Given the description of an element on the screen output the (x, y) to click on. 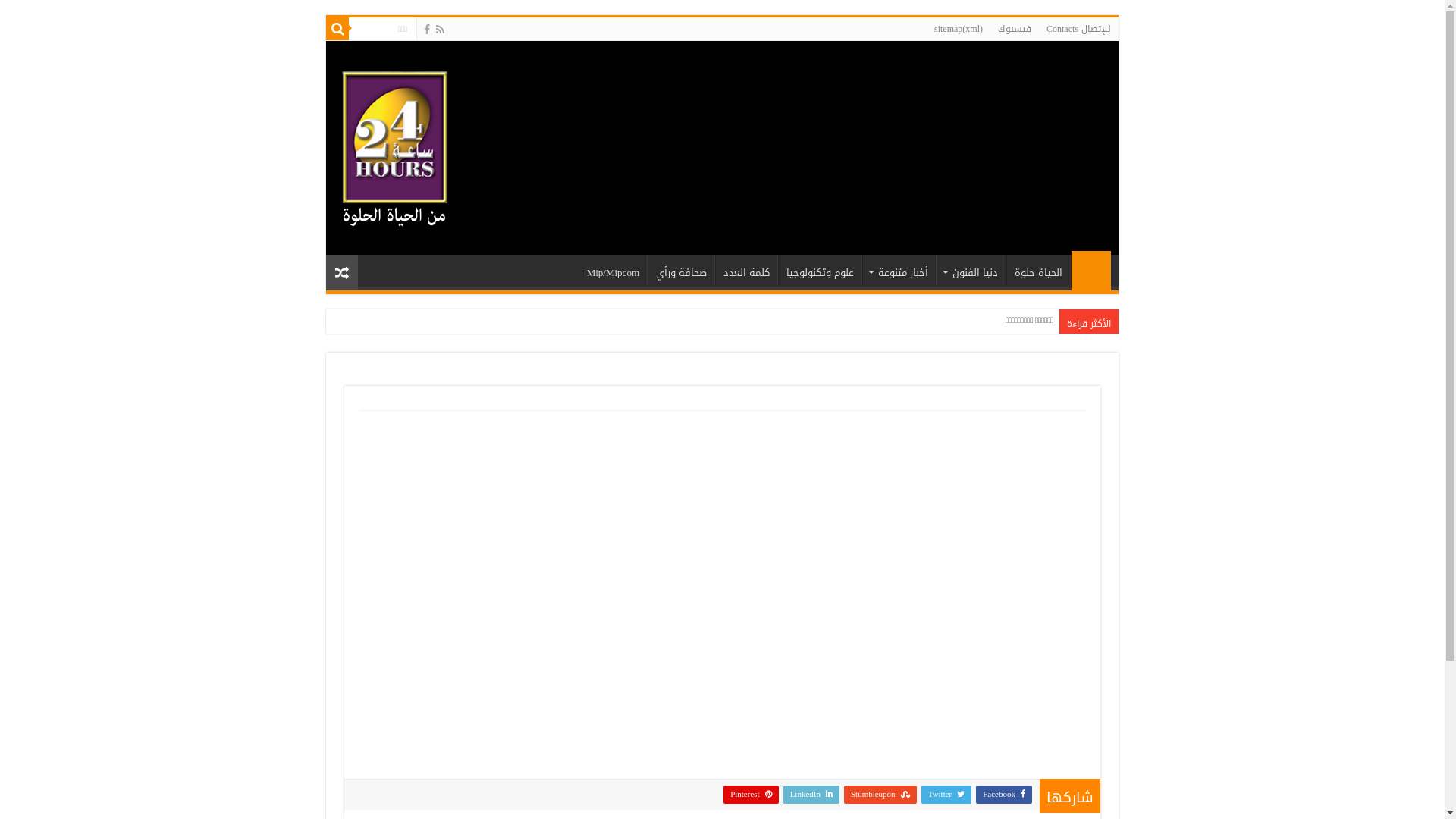
Pinterest Element type: text (750, 794)
Mip/Mipcom Element type: text (613, 270)
Facebook Element type: text (1003, 794)
sitemap(xml) Element type: text (958, 28)
Twitter Element type: text (946, 794)
Rss Element type: hover (439, 29)
Stumbleupon Element type: text (880, 794)
LinkedIn Element type: text (811, 794)
Facebook Element type: hover (426, 29)
